Given the description of an element on the screen output the (x, y) to click on. 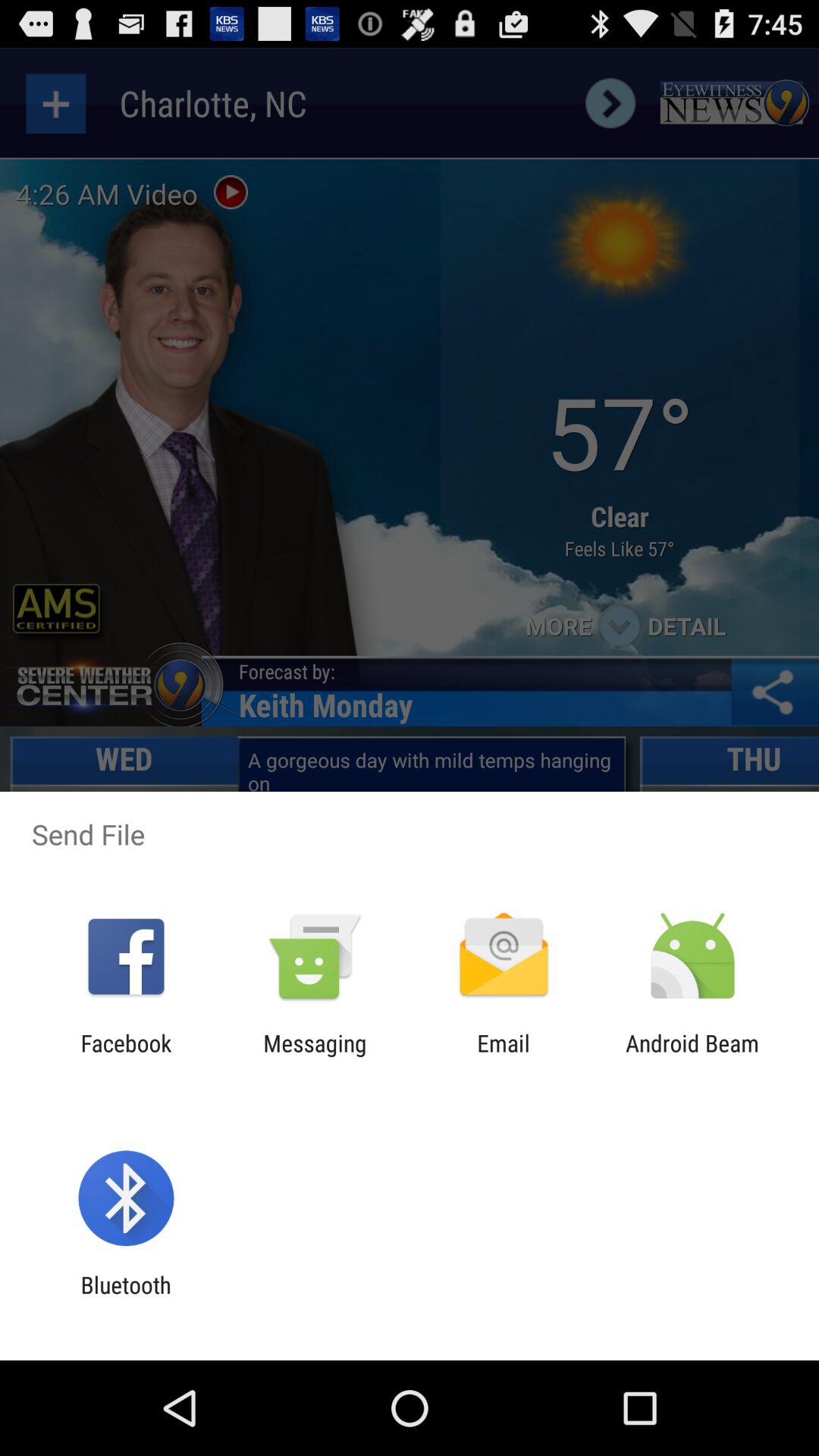
select icon to the left of the messaging (125, 1056)
